Given the description of an element on the screen output the (x, y) to click on. 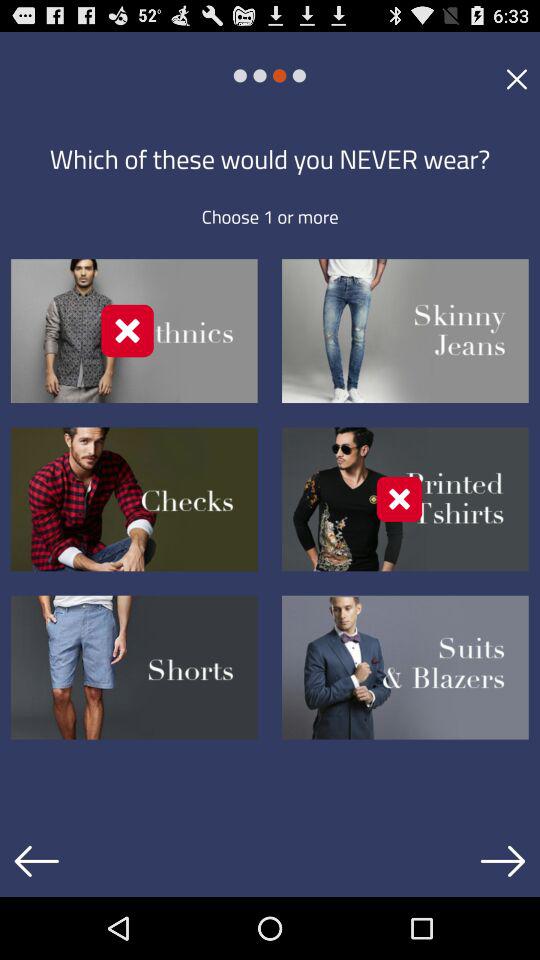
go to previous (36, 861)
